Given the description of an element on the screen output the (x, y) to click on. 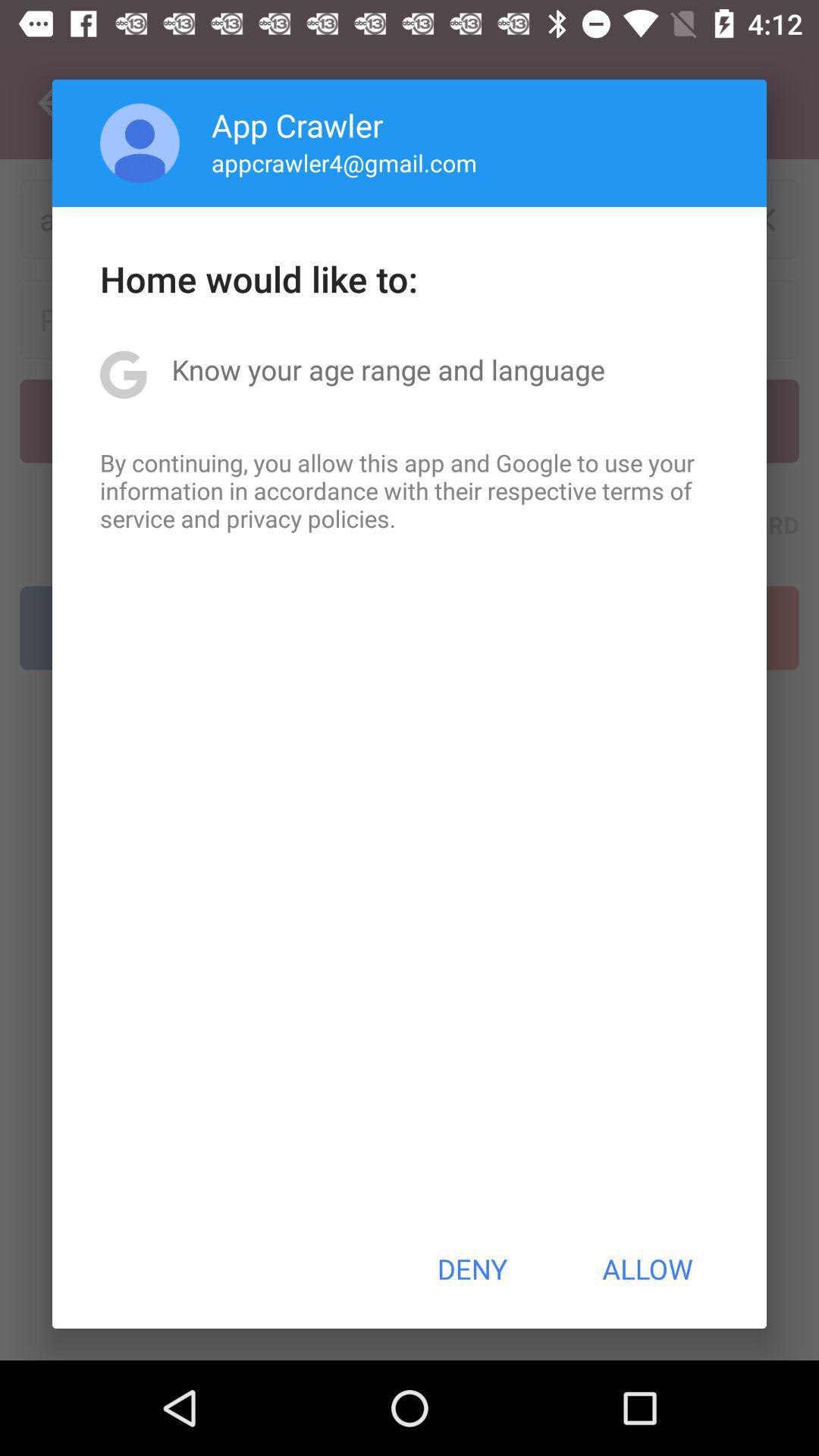
select the app crawler (297, 124)
